Given the description of an element on the screen output the (x, y) to click on. 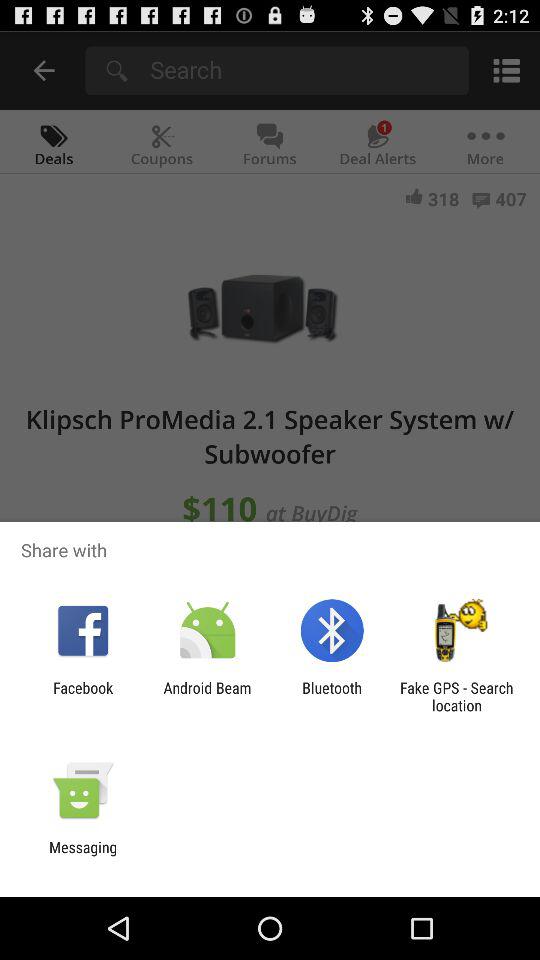
turn off icon to the right of facebook app (207, 696)
